Given the description of an element on the screen output the (x, y) to click on. 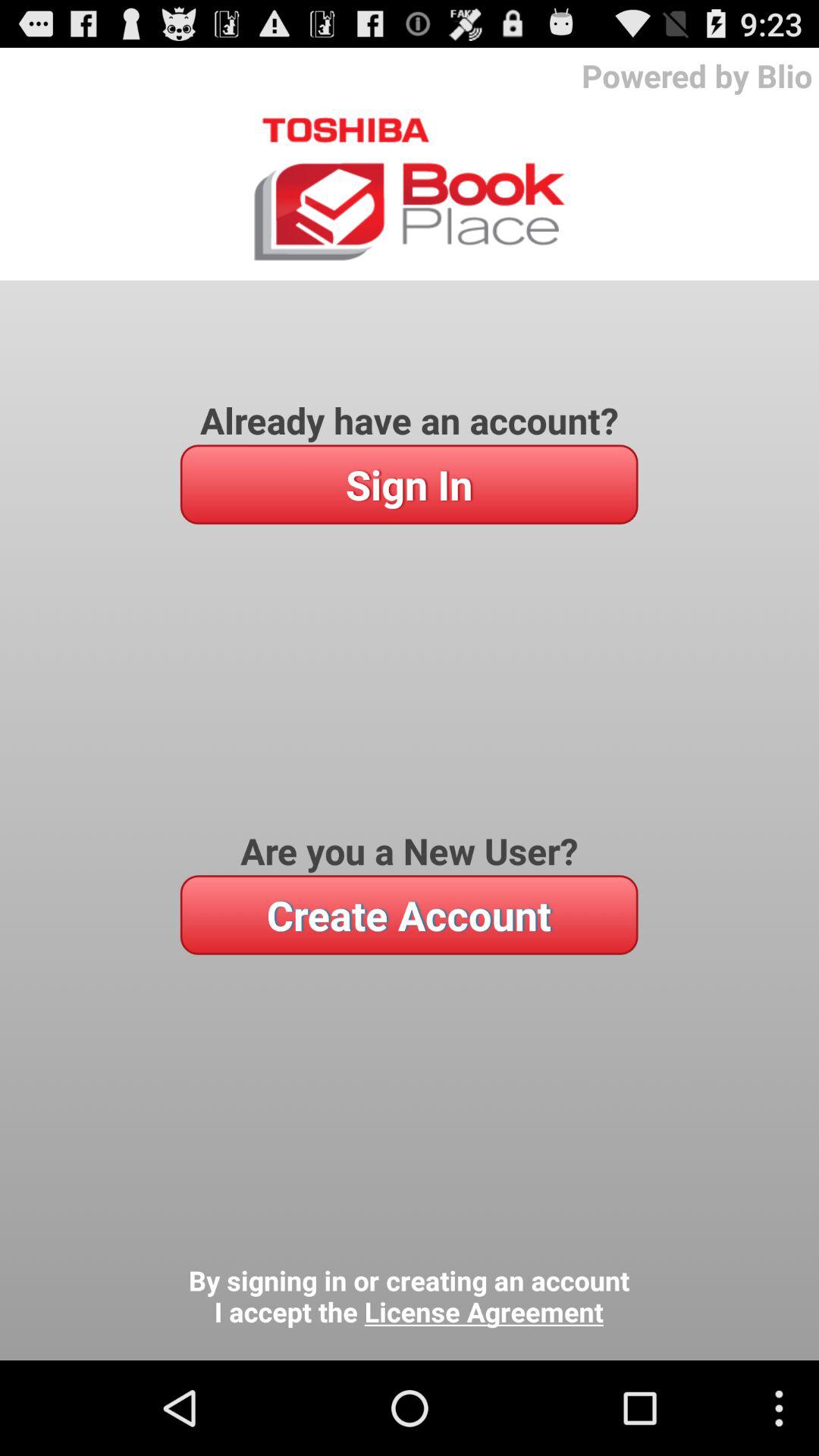
turn on the sign in icon (409, 484)
